Given the description of an element on the screen output the (x, y) to click on. 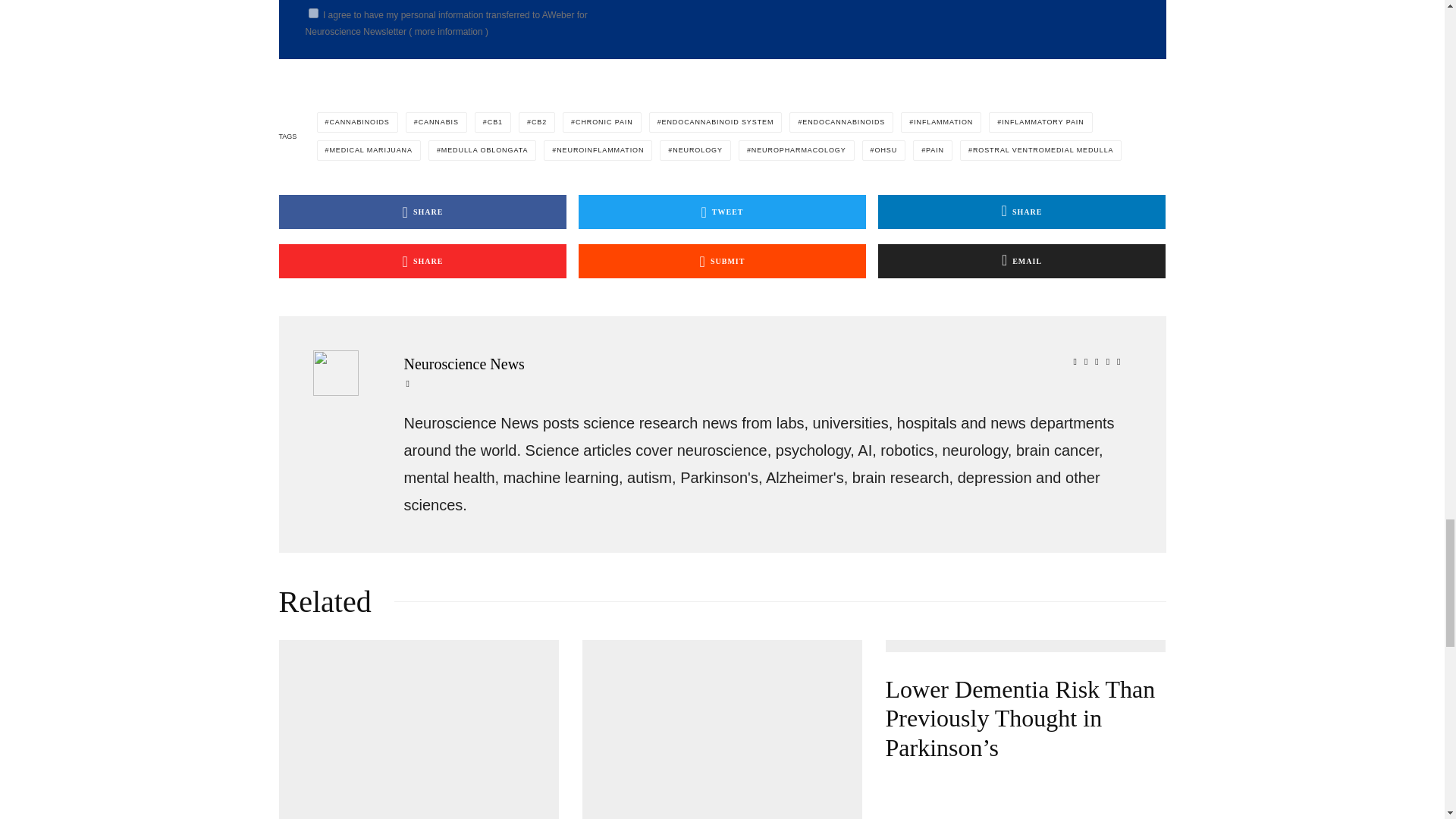
ENDOCANNABINOID SYSTEM (716, 122)
SHARE (423, 211)
INFLAMMATORY PAIN (1040, 122)
MEDICAL MARIJUANA (368, 150)
OHSU (883, 150)
CANNABINOIDS (357, 122)
PAIN (932, 150)
TWEET (722, 211)
ENDOCANNABINOIDS (841, 122)
CANNABIS (436, 122)
